Given the description of an element on the screen output the (x, y) to click on. 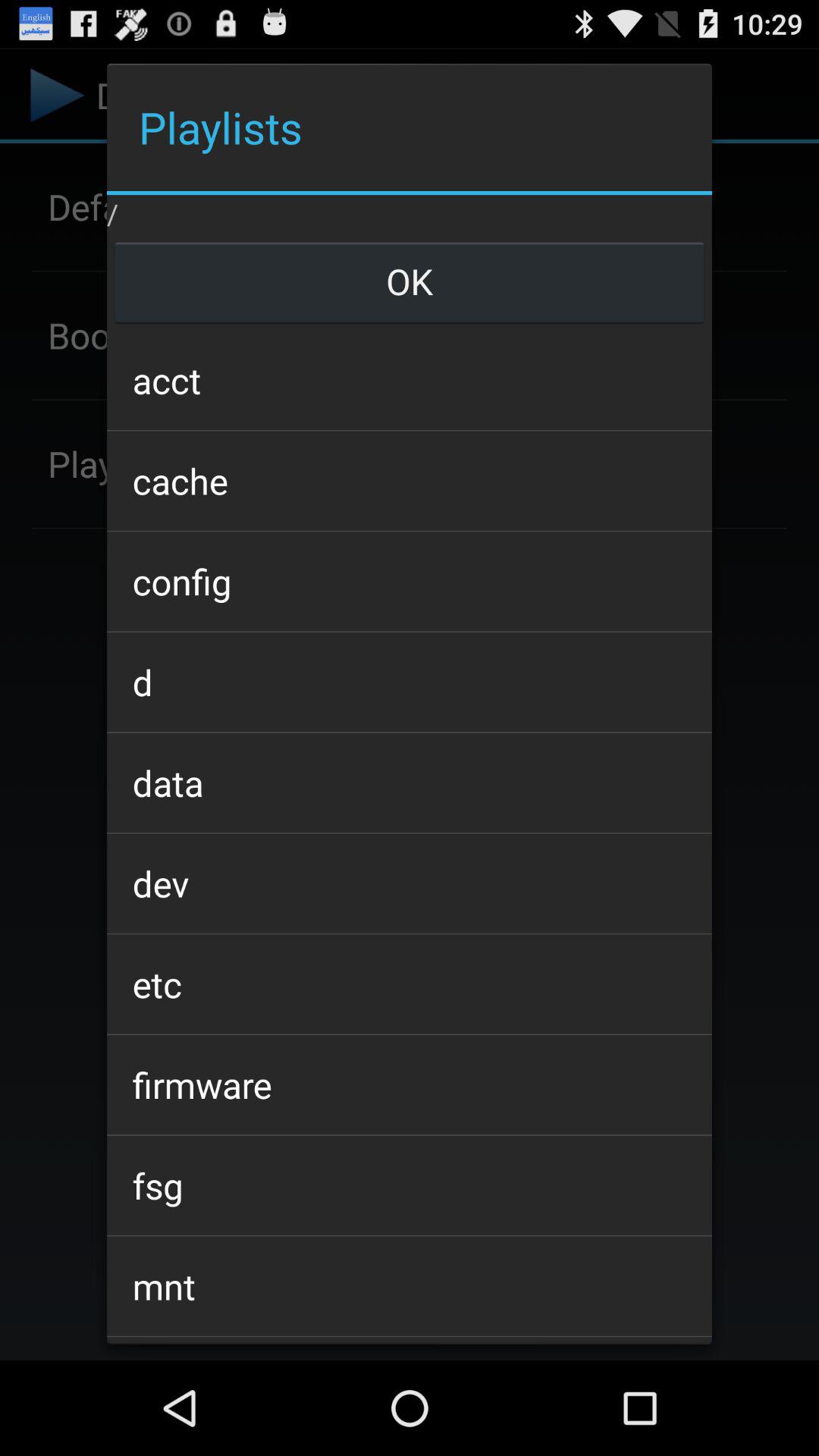
tap the item above the oem item (409, 1285)
